Given the description of an element on the screen output the (x, y) to click on. 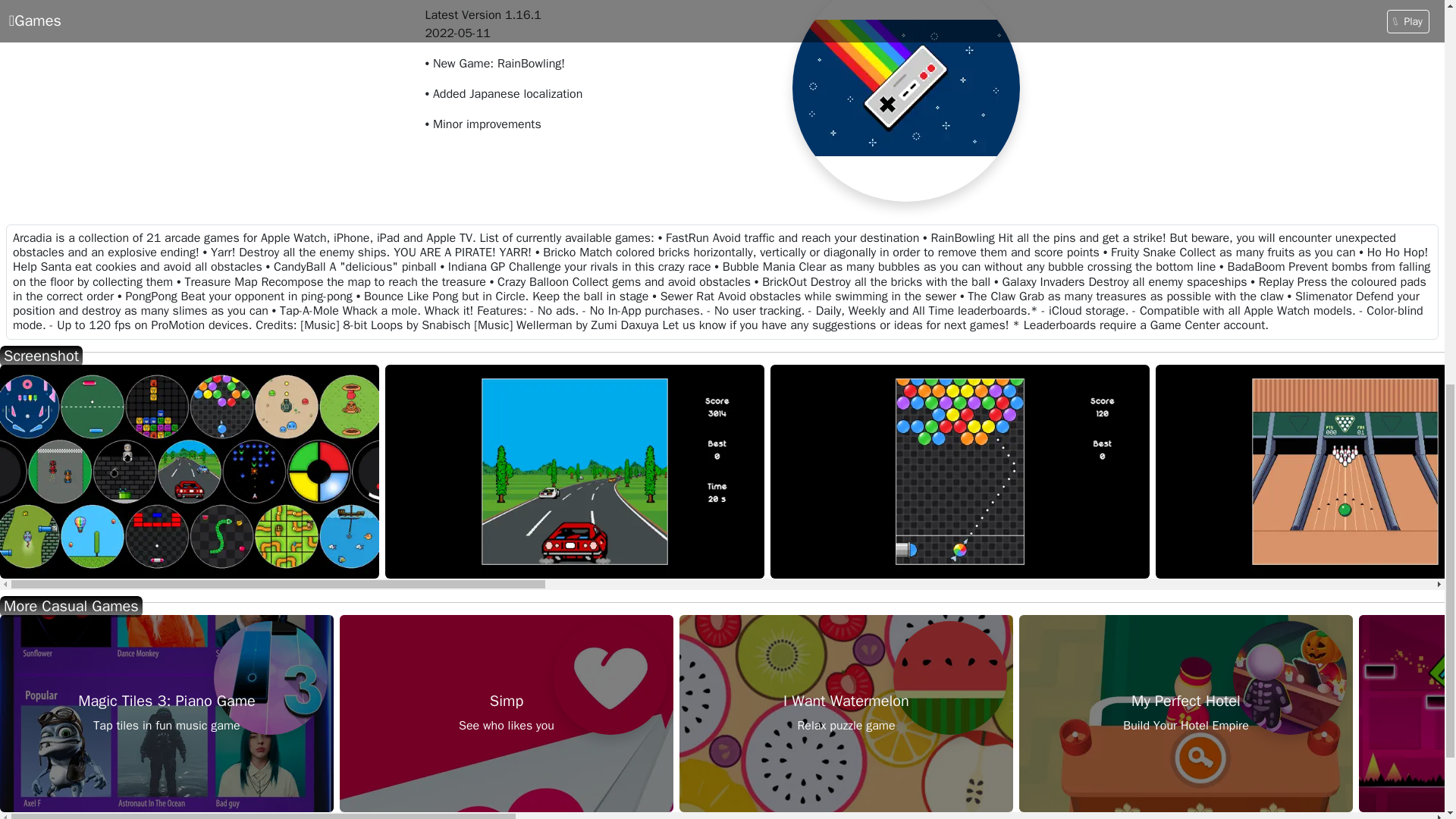
screenshot2 (1185, 713)
Logo (960, 471)
Logo (609, 677)
screenshot1 (950, 677)
screenshot0 (505, 713)
Logo (574, 471)
Logo (189, 471)
